Given the description of an element on the screen output the (x, y) to click on. 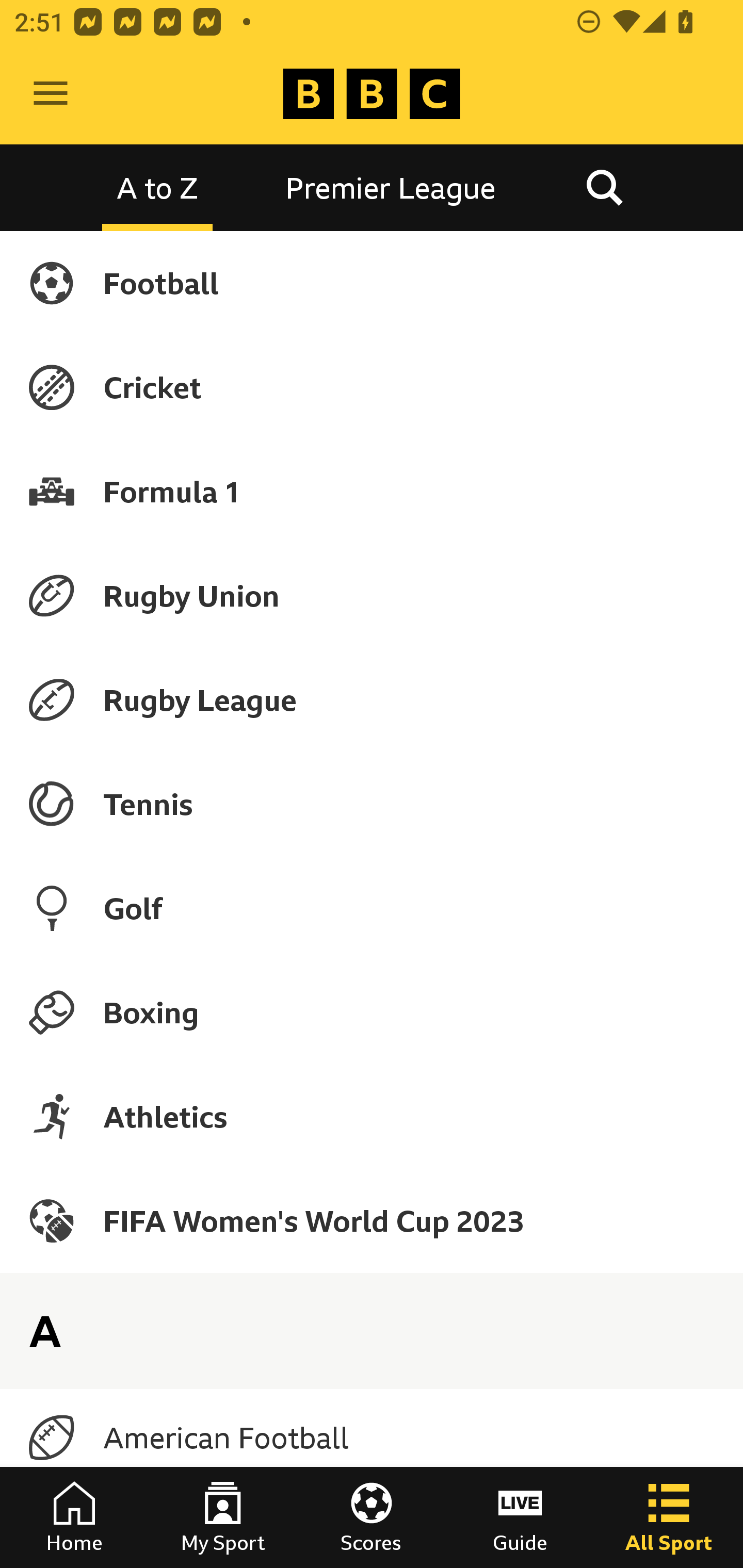
Open Menu (50, 93)
Premier League (390, 187)
Search (604, 187)
Football (371, 282)
Cricket (371, 387)
Formula 1 (371, 491)
Rugby Union (371, 595)
Rugby League (371, 699)
Tennis (371, 804)
Golf (371, 907)
Boxing (371, 1011)
Athletics (371, 1116)
FIFA Women's World Cup 2023 (371, 1220)
American Football (371, 1437)
Home (74, 1517)
My Sport (222, 1517)
Scores (371, 1517)
Guide (519, 1517)
